Given the description of an element on the screen output the (x, y) to click on. 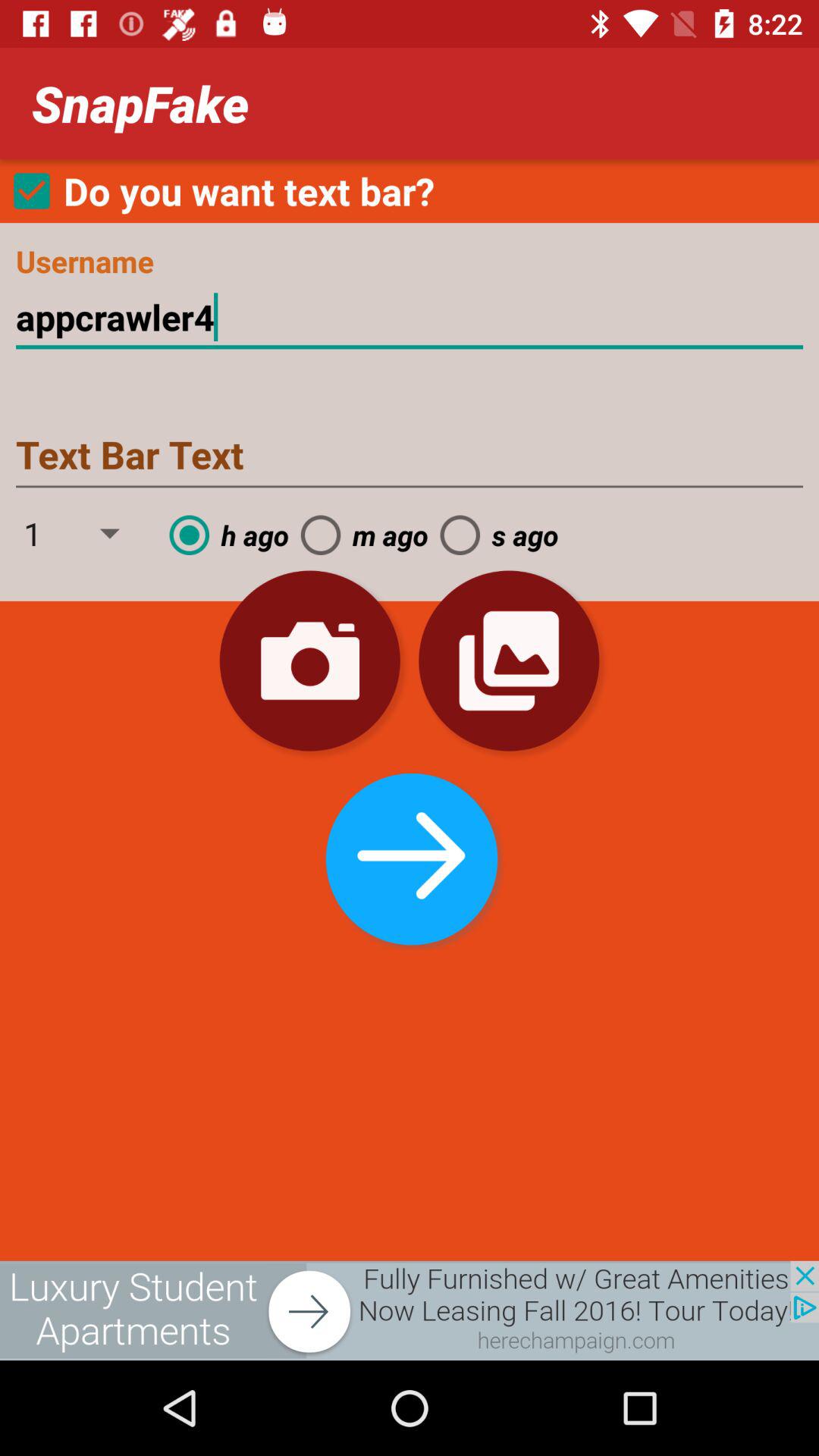
go to the next step (408, 854)
